Given the description of an element on the screen output the (x, y) to click on. 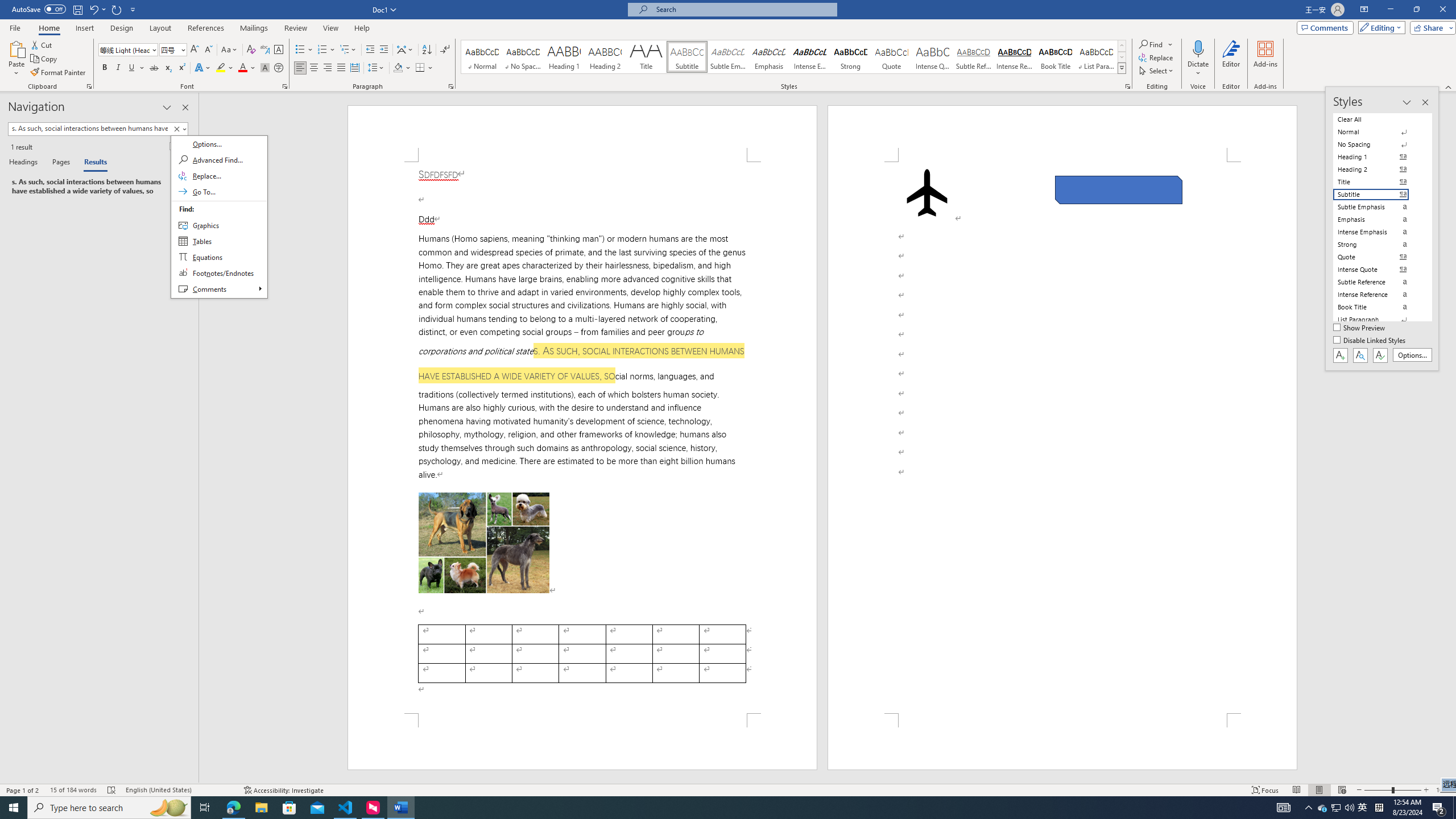
Strong (849, 56)
Styles... (1127, 85)
Copy (45, 58)
Page 1 content (581, 437)
Clear Formatting (250, 49)
Grow Font (193, 49)
Undo Style (92, 9)
Action Center, 2 new notifications (1439, 807)
